Given the description of an element on the screen output the (x, y) to click on. 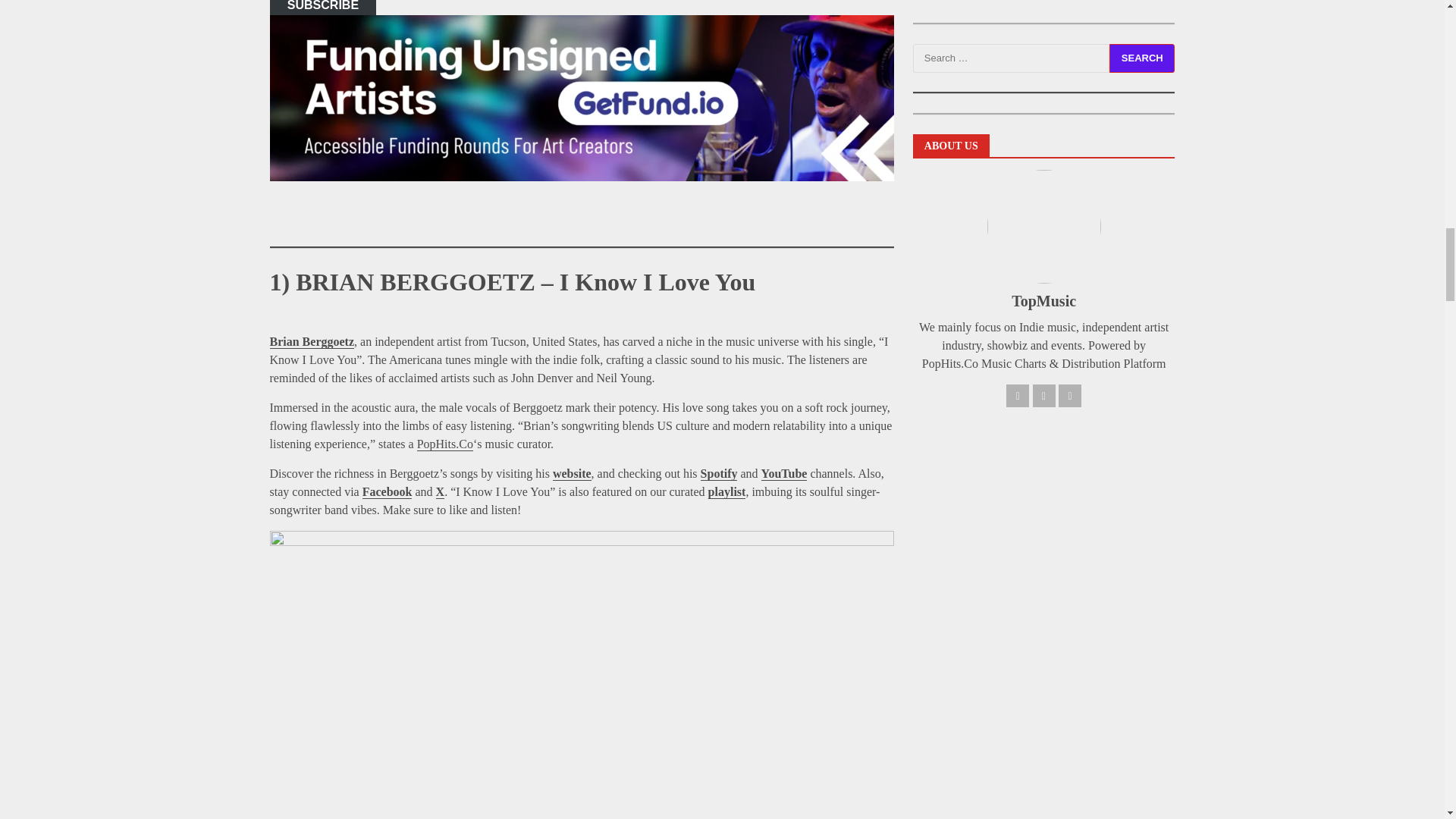
Spotify Embed: I Know I Love You (581, 748)
